Given the description of an element on the screen output the (x, y) to click on. 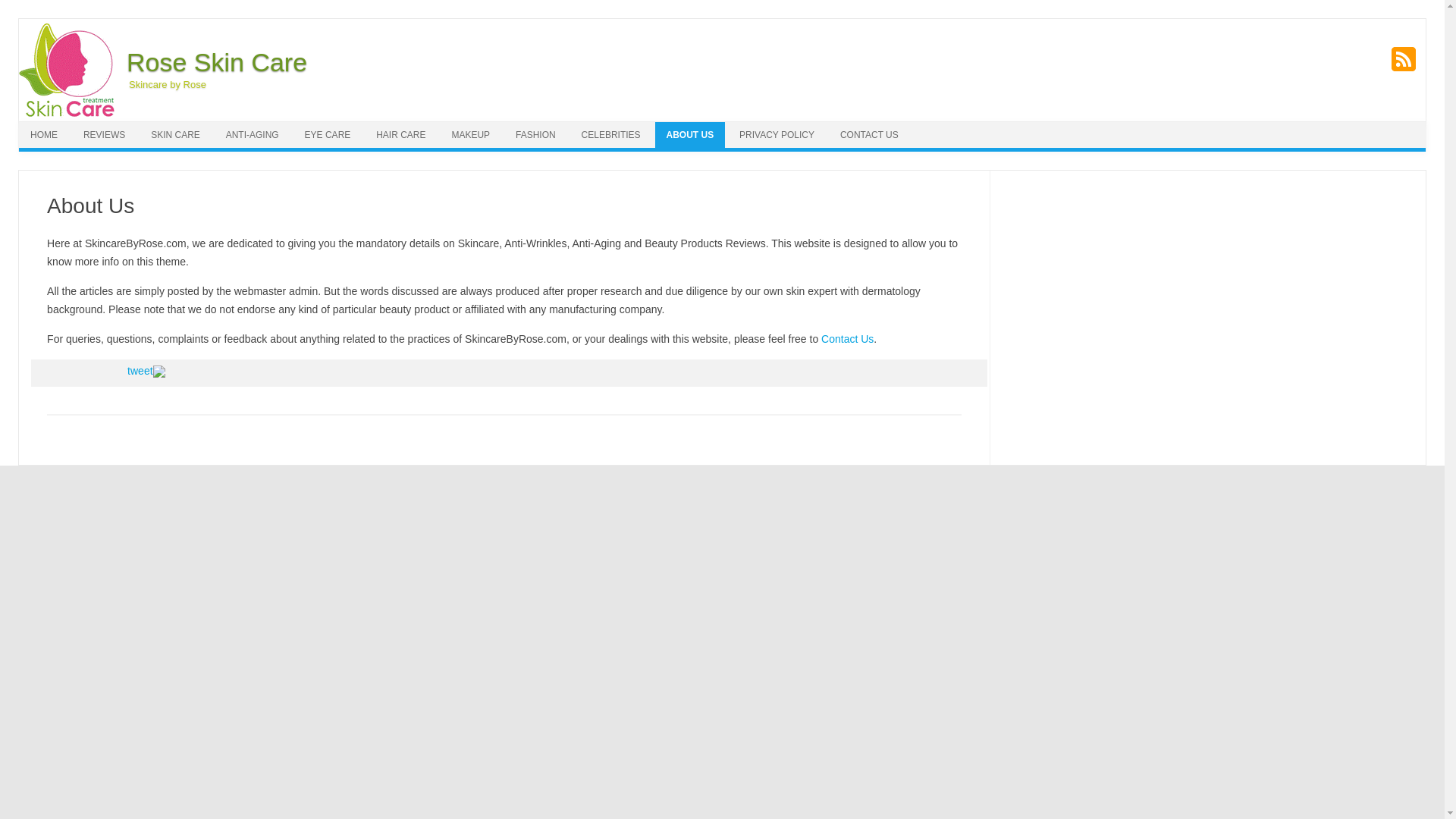
MAKEUP (469, 135)
ANTI-AGING (251, 135)
CONTACT US (869, 135)
Skip to content (757, 126)
HAIR CARE (400, 135)
Contact Us (847, 338)
CELEBRITIES (611, 135)
ABOUT US (690, 135)
REVIEWS (103, 135)
HOME (43, 135)
Skincare by Rose (164, 84)
EYE CARE (328, 135)
SKIN CARE (175, 135)
tweet (140, 370)
Skip to content (757, 126)
